Given the description of an element on the screen output the (x, y) to click on. 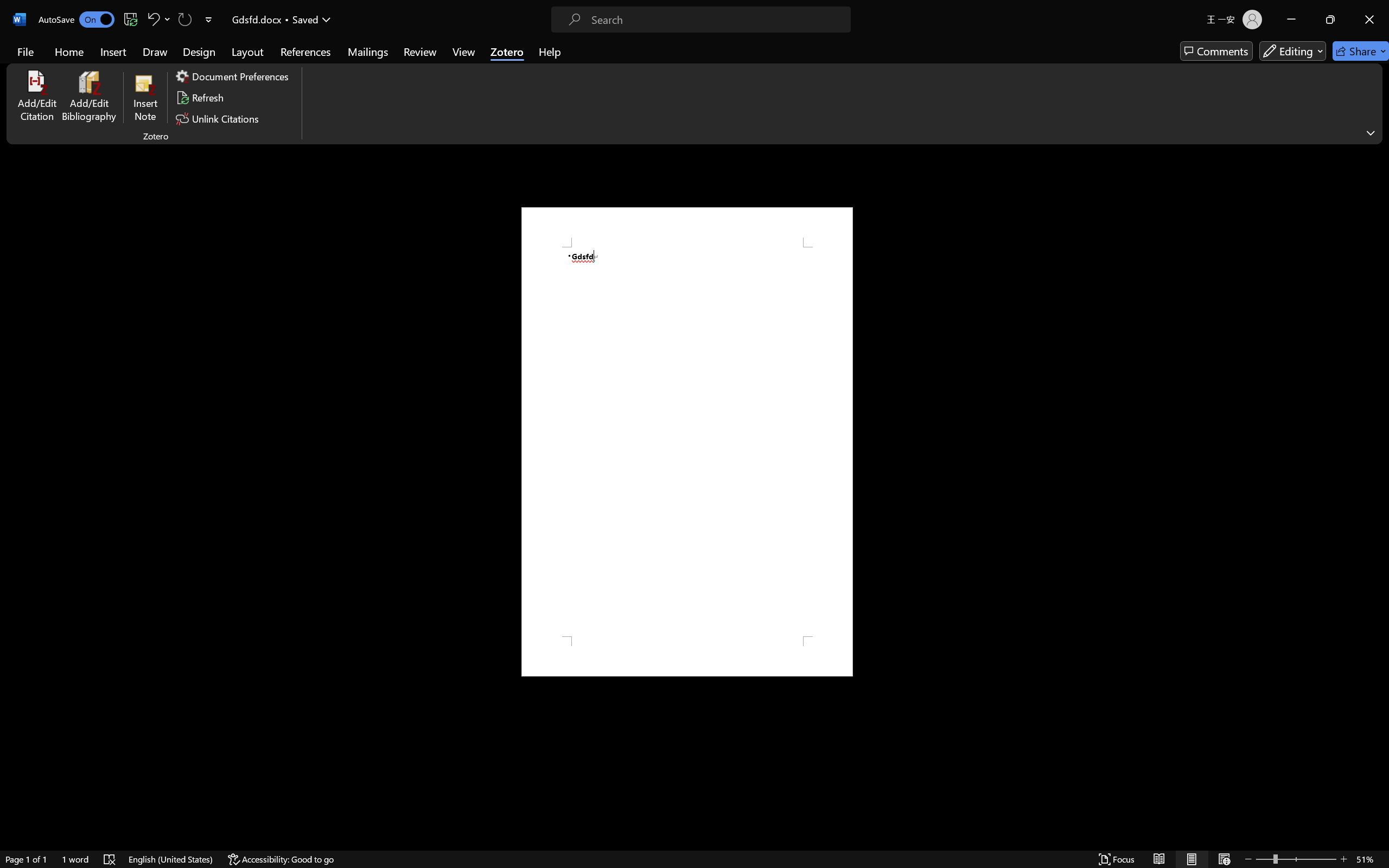
Page 1 content (686, 441)
